Given the description of an element on the screen output the (x, y) to click on. 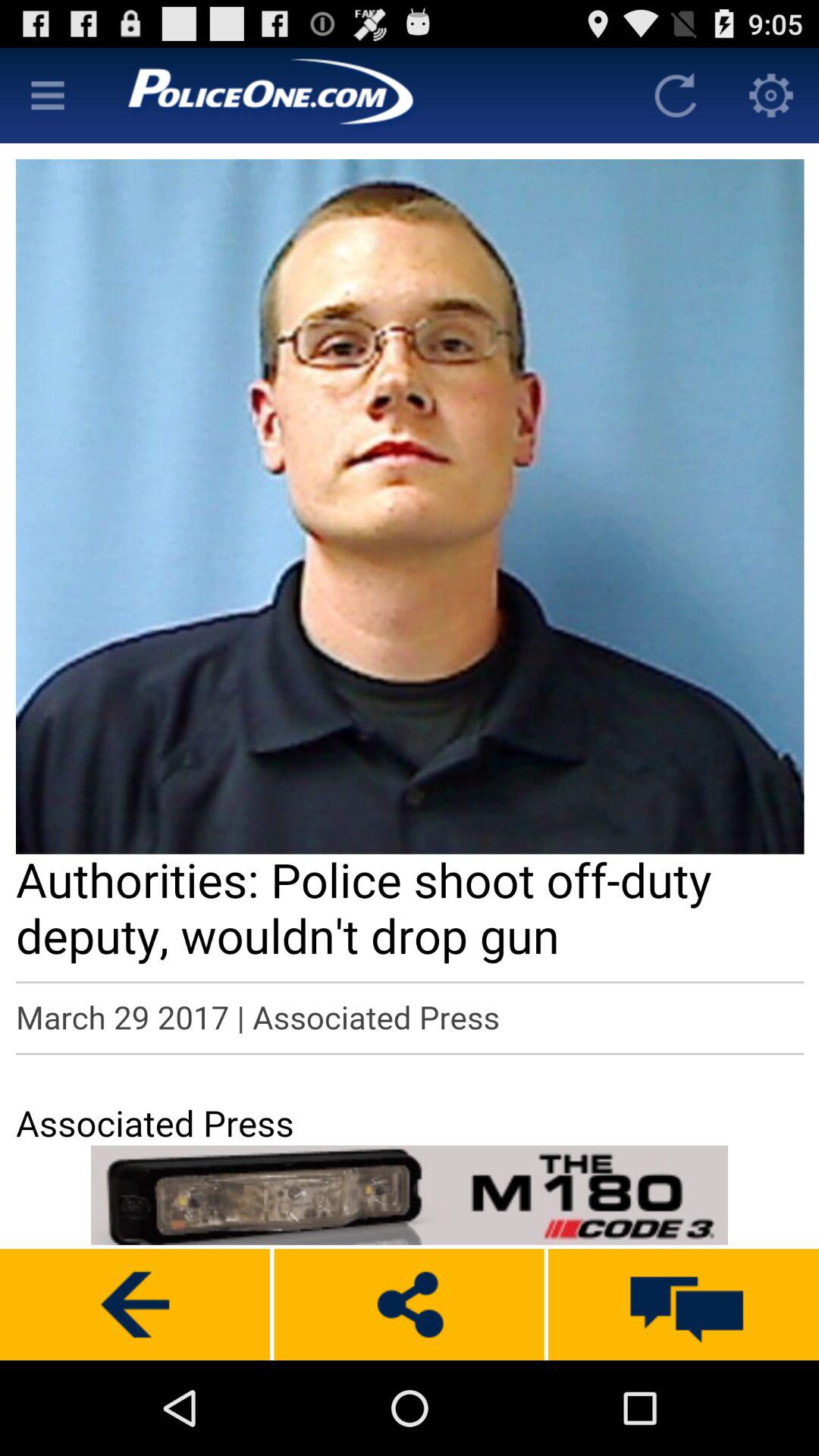
open menu (47, 95)
